Given the description of an element on the screen output the (x, y) to click on. 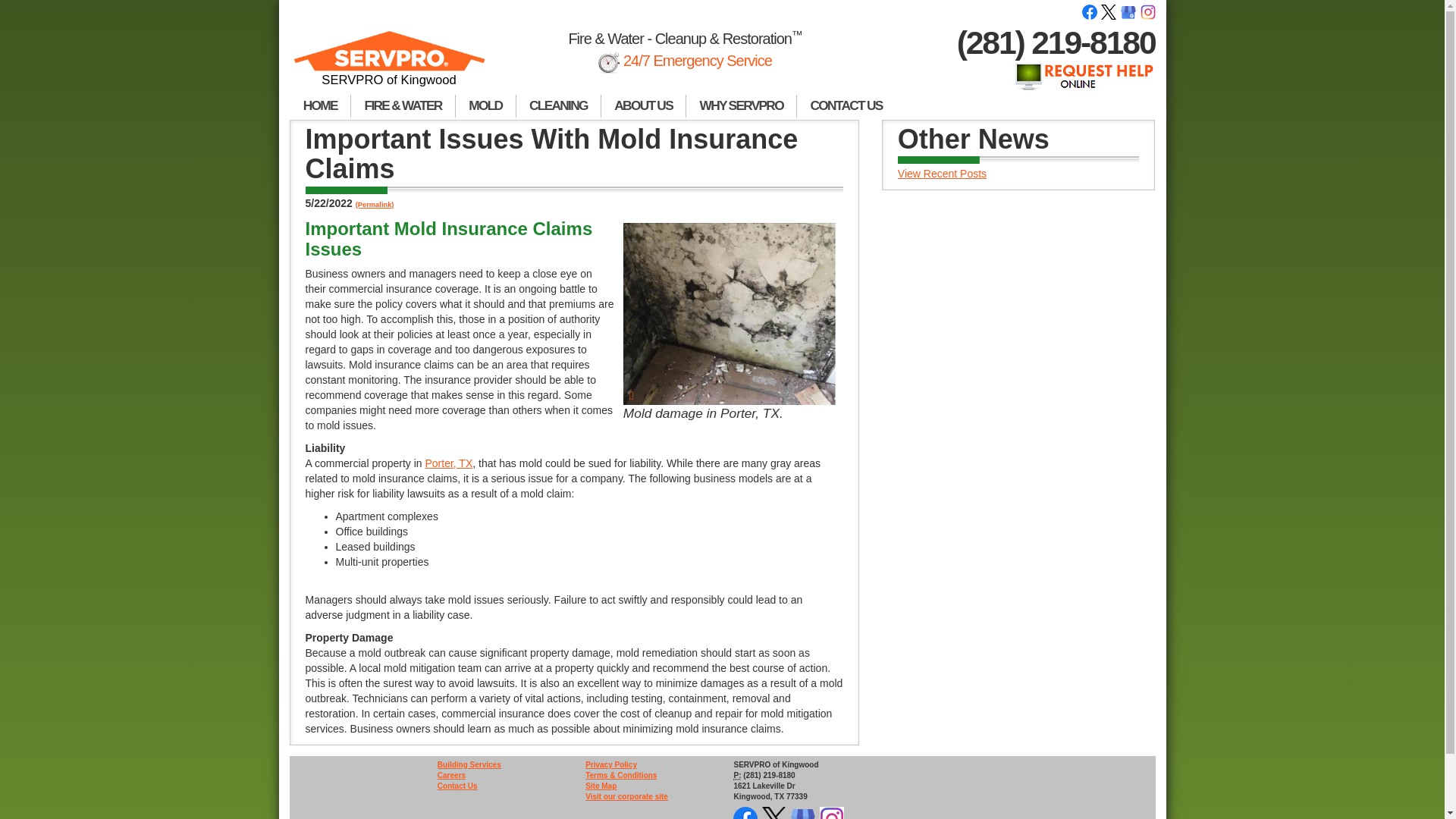
HOME (319, 106)
CLEANING (558, 106)
MOLD (485, 106)
SERVPRO of Kingwood (389, 64)
ABOUT US (643, 106)
